Given the description of an element on the screen output the (x, y) to click on. 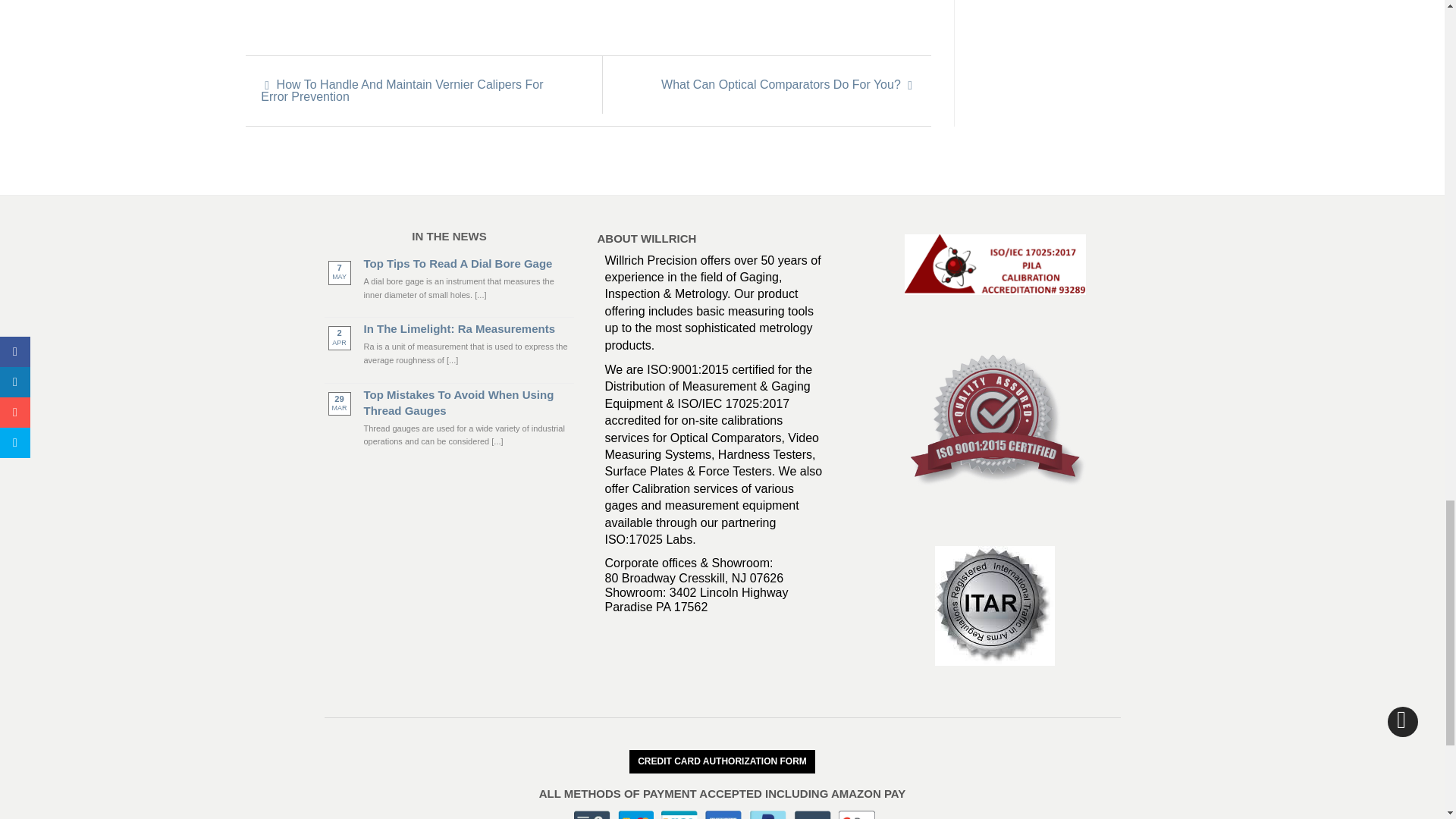
Top Mistakes To Avoid When Using Thread Gauges (469, 402)
Top Tips To Read A Dial Bore Gage (469, 263)
In The Limelight: Ra Measurements (469, 328)
